Given the description of an element on the screen output the (x, y) to click on. 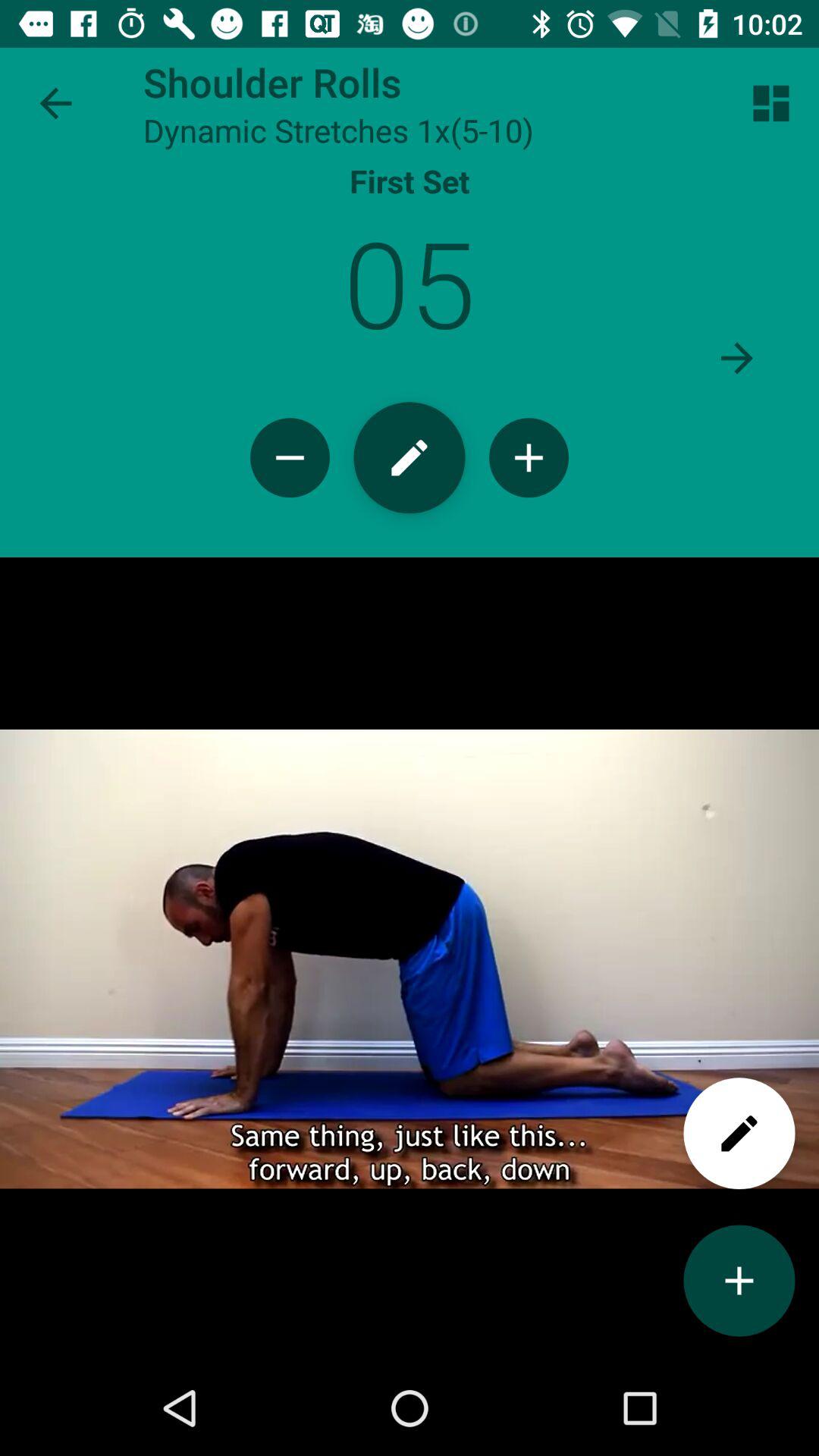
go to increace (739, 1280)
